Given the description of an element on the screen output the (x, y) to click on. 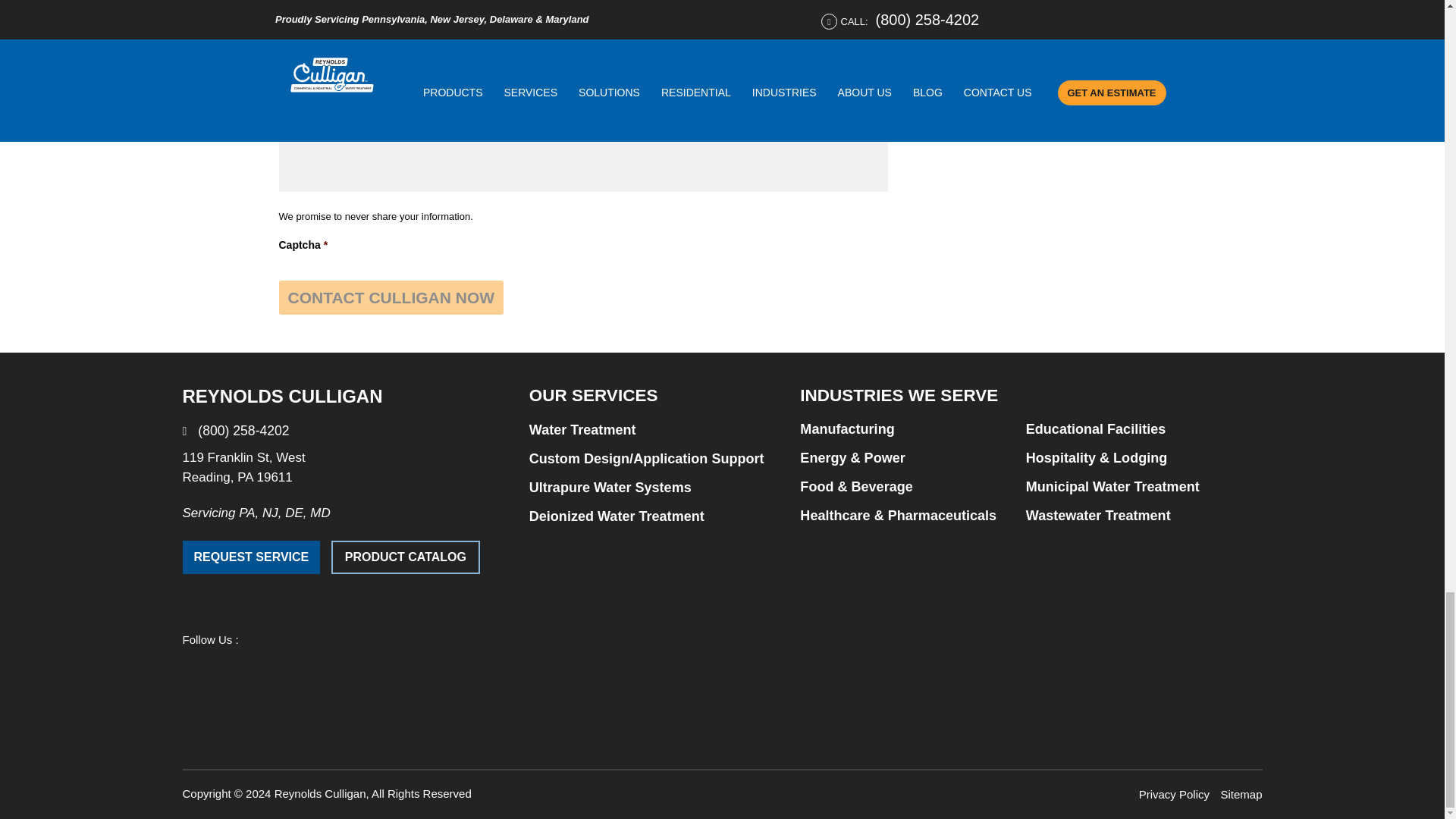
Contact Culligan Now (391, 297)
